Given the description of an element on the screen output the (x, y) to click on. 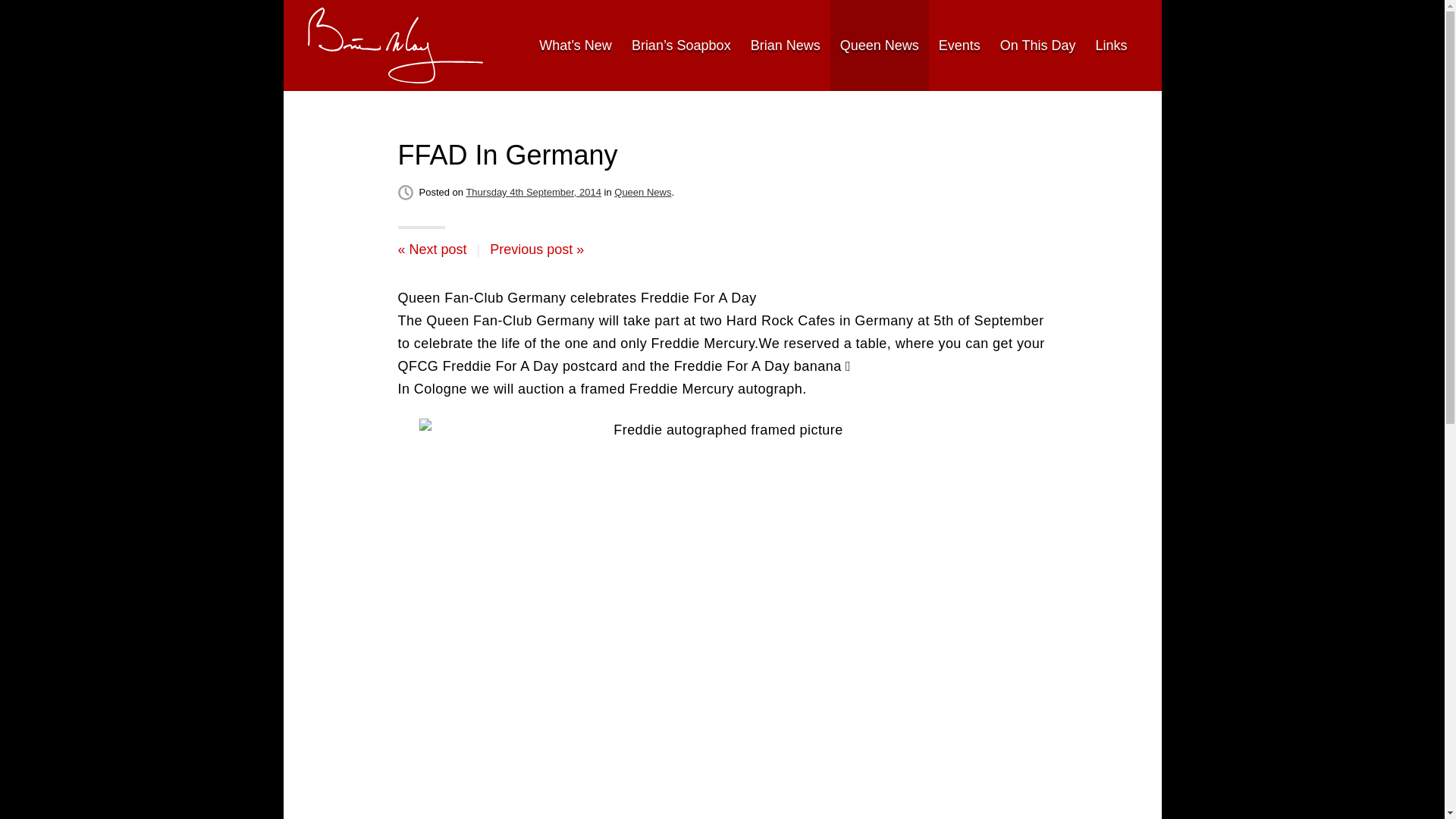
Queen News (642, 192)
brianmay.com (395, 45)
Queen News (878, 45)
Brian News (785, 45)
Skip to content (326, 45)
Thursday 4th September, 2014 (533, 192)
On This Day (1038, 45)
